Given the description of an element on the screen output the (x, y) to click on. 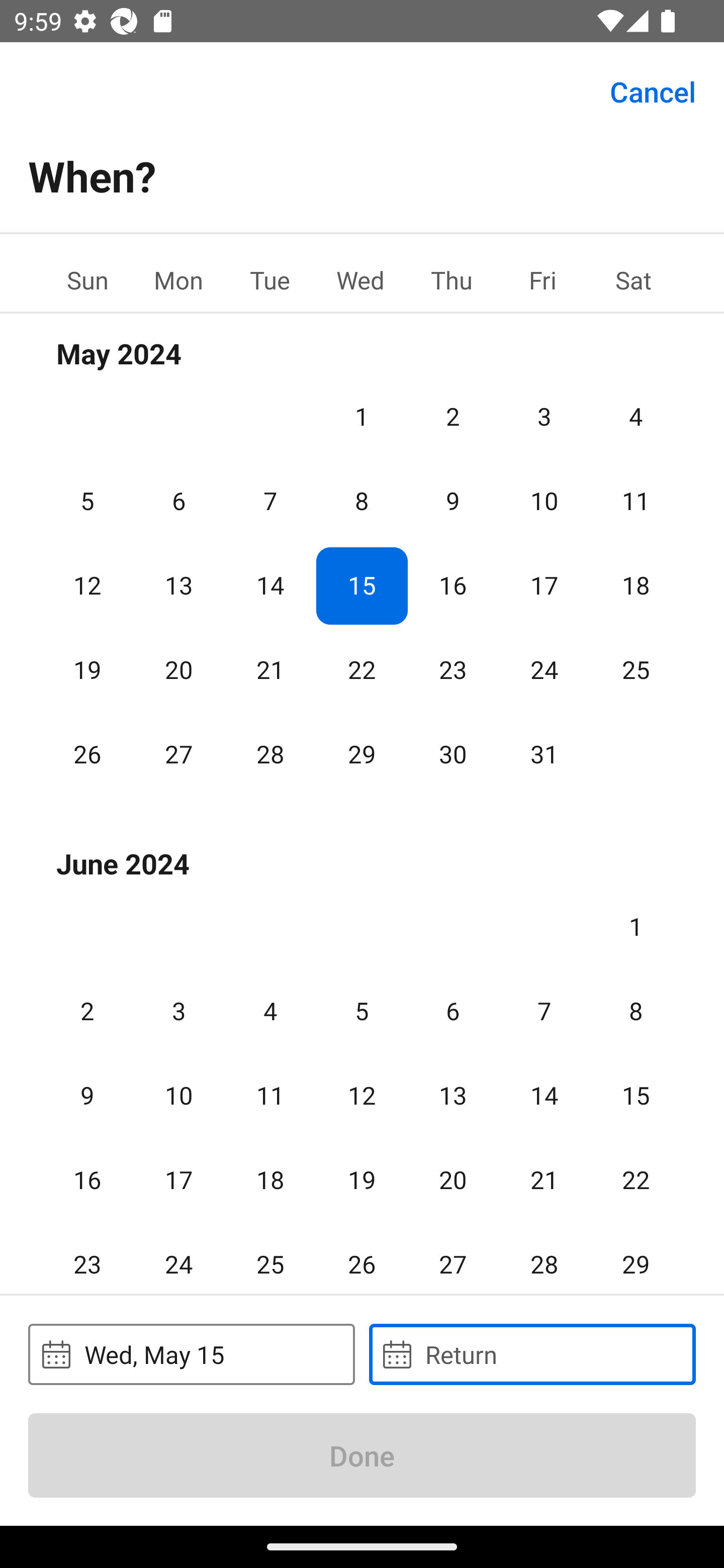
Cancel (652, 90)
Wed, May 15 (191, 1353)
Return (532, 1353)
Done (361, 1454)
